Given the description of an element on the screen output the (x, y) to click on. 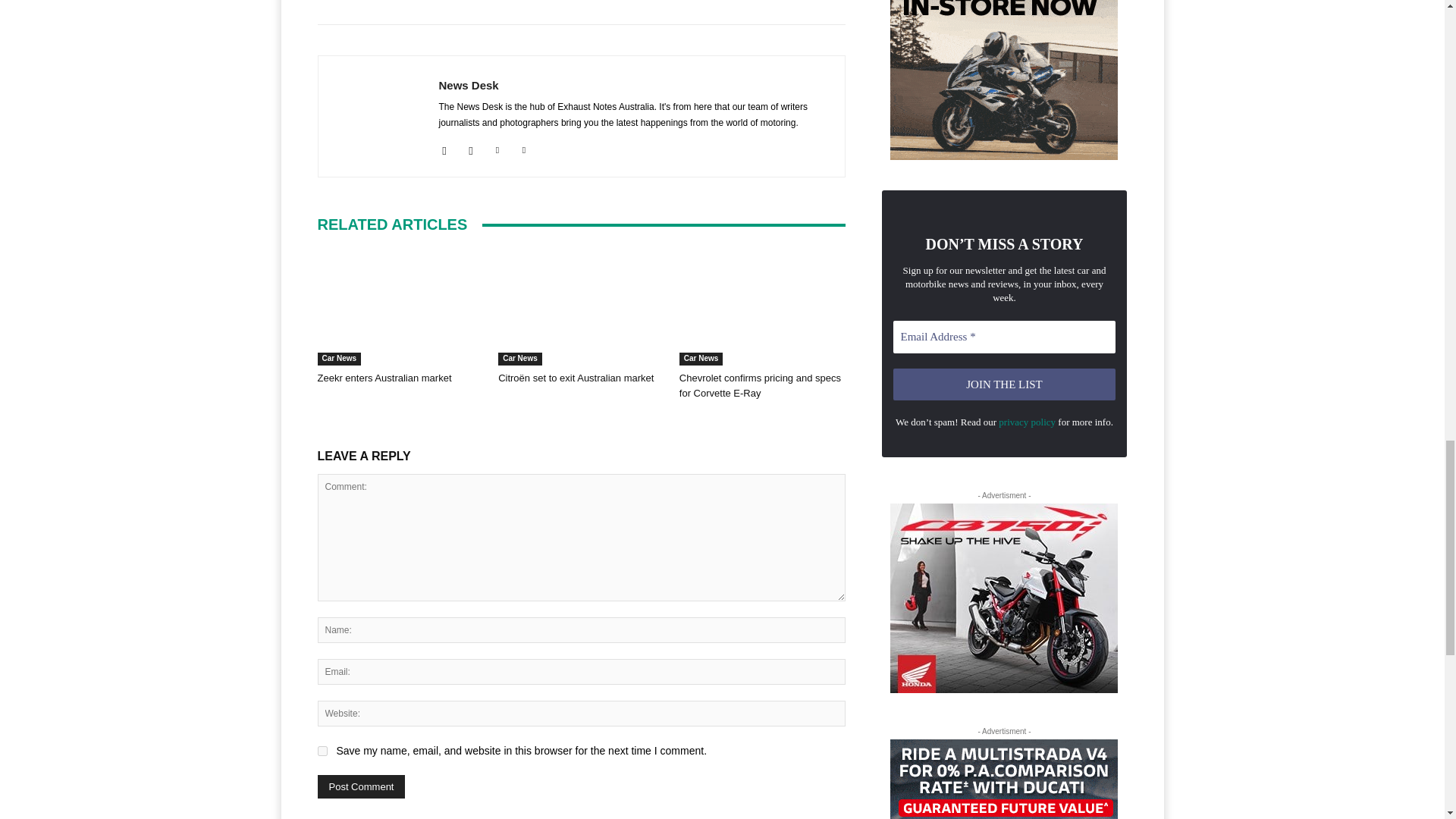
Post Comment (360, 786)
JOIN THE LIST (1004, 384)
yes (321, 750)
